Given the description of an element on the screen output the (x, y) to click on. 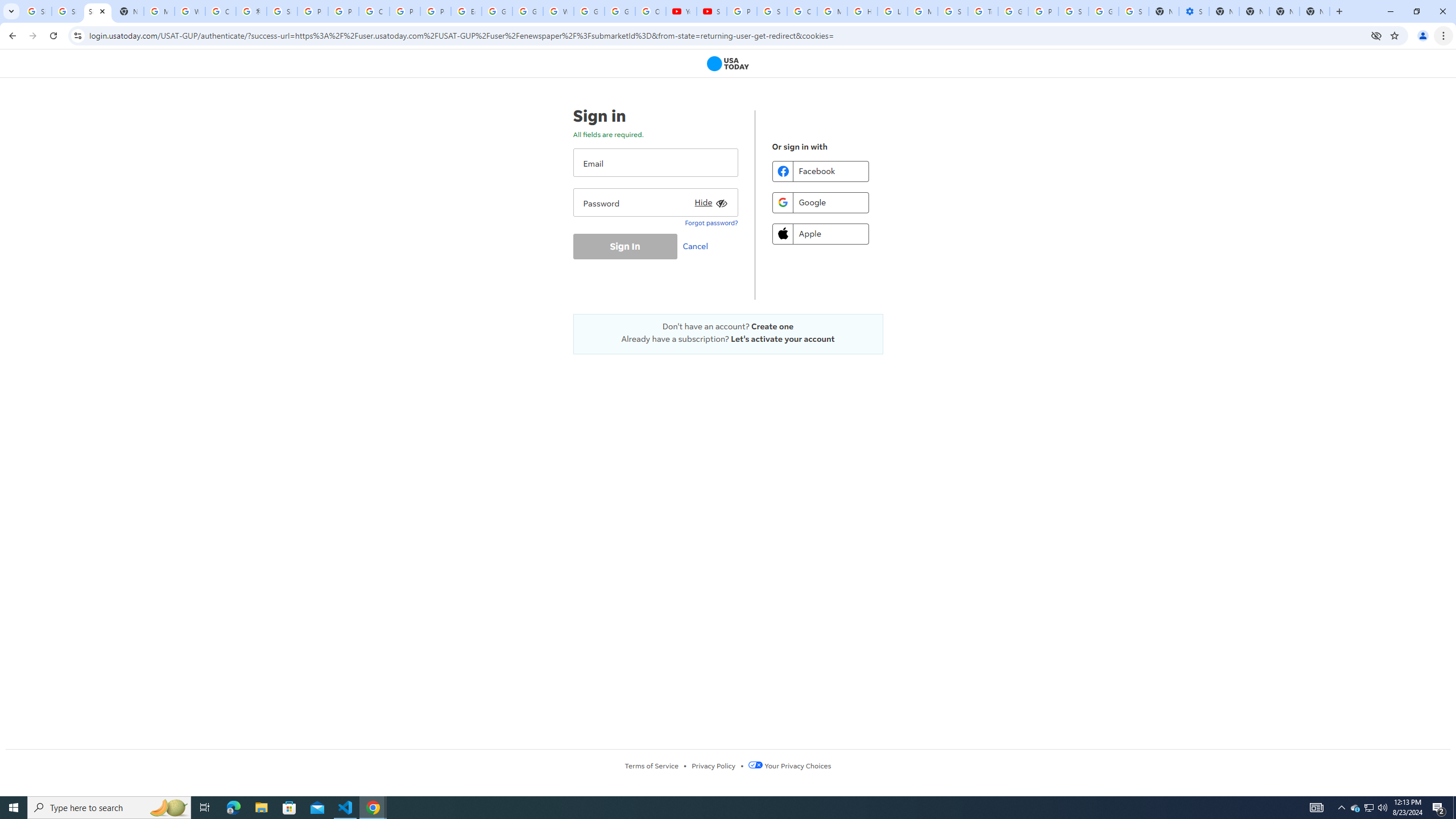
Privacy Policy (713, 765)
Create your Google Account (373, 11)
Hide (708, 200)
Forward (32, 35)
Restore (1416, 11)
Search tabs (10, 11)
Google Ads - Sign in (1012, 11)
Google (820, 201)
Sign in - Google Accounts (282, 11)
View site information (77, 35)
